Given the description of an element on the screen output the (x, y) to click on. 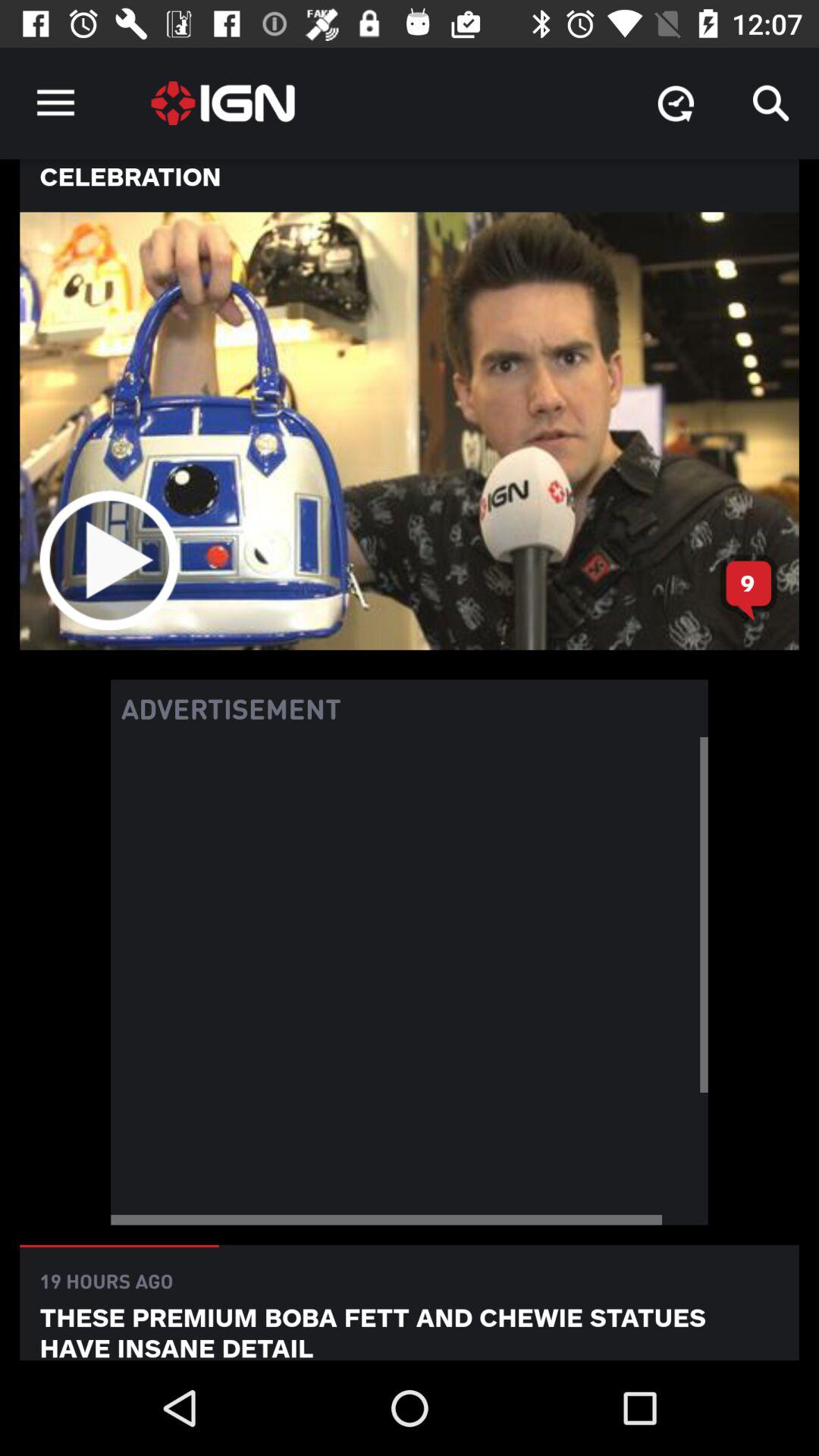
advertisement section (409, 981)
